Given the description of an element on the screen output the (x, y) to click on. 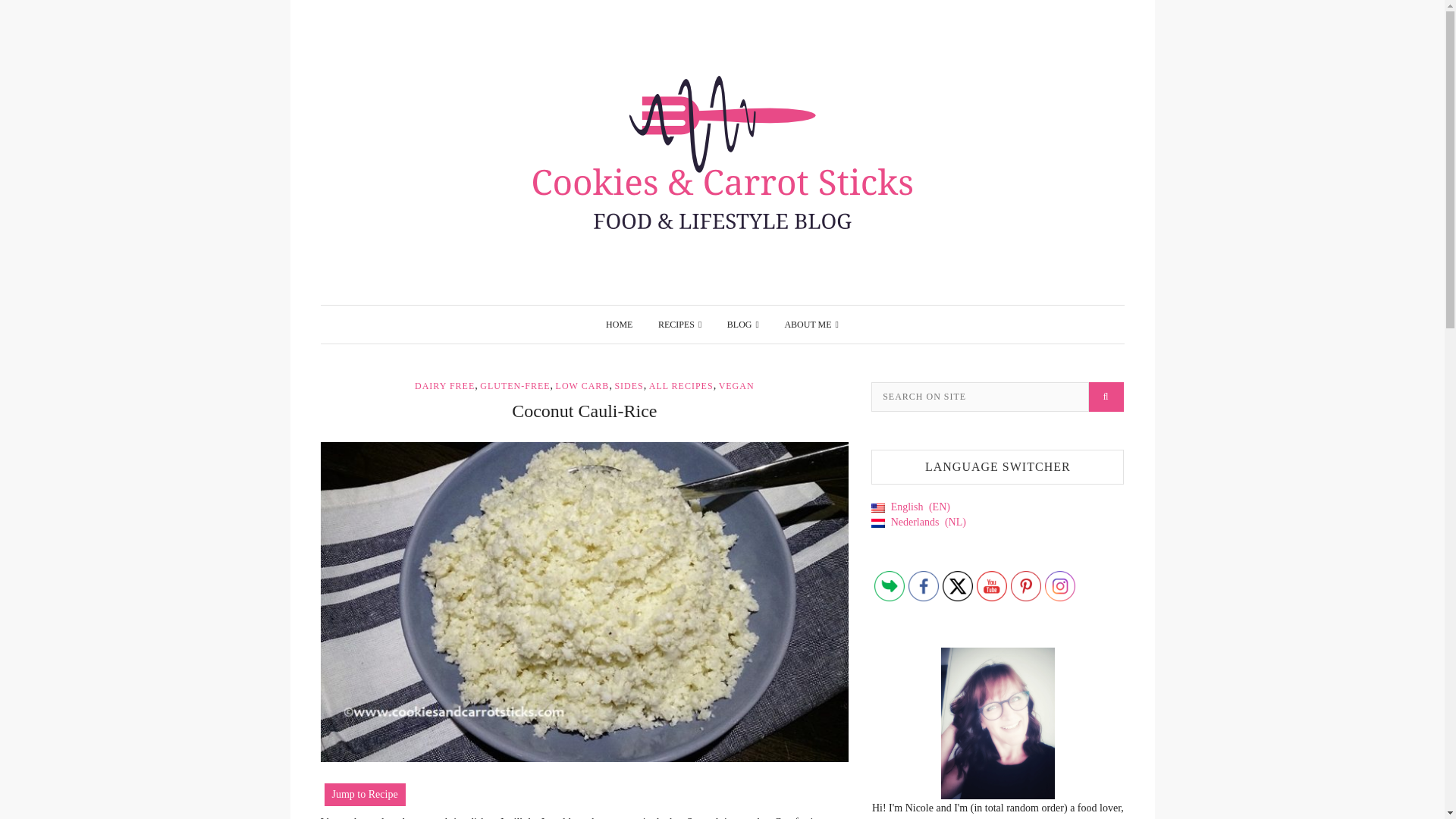
LOW CARB (583, 385)
ALL RECIPES (681, 385)
Pinterest (1025, 585)
Like me on Facebook (923, 585)
DAIRY FREE (444, 385)
SIDES (628, 385)
ABOUT ME (811, 324)
VEGAN (736, 385)
Follow me on Twitter (957, 585)
GLUTEN-FREE (515, 385)
